Given the description of an element on the screen output the (x, y) to click on. 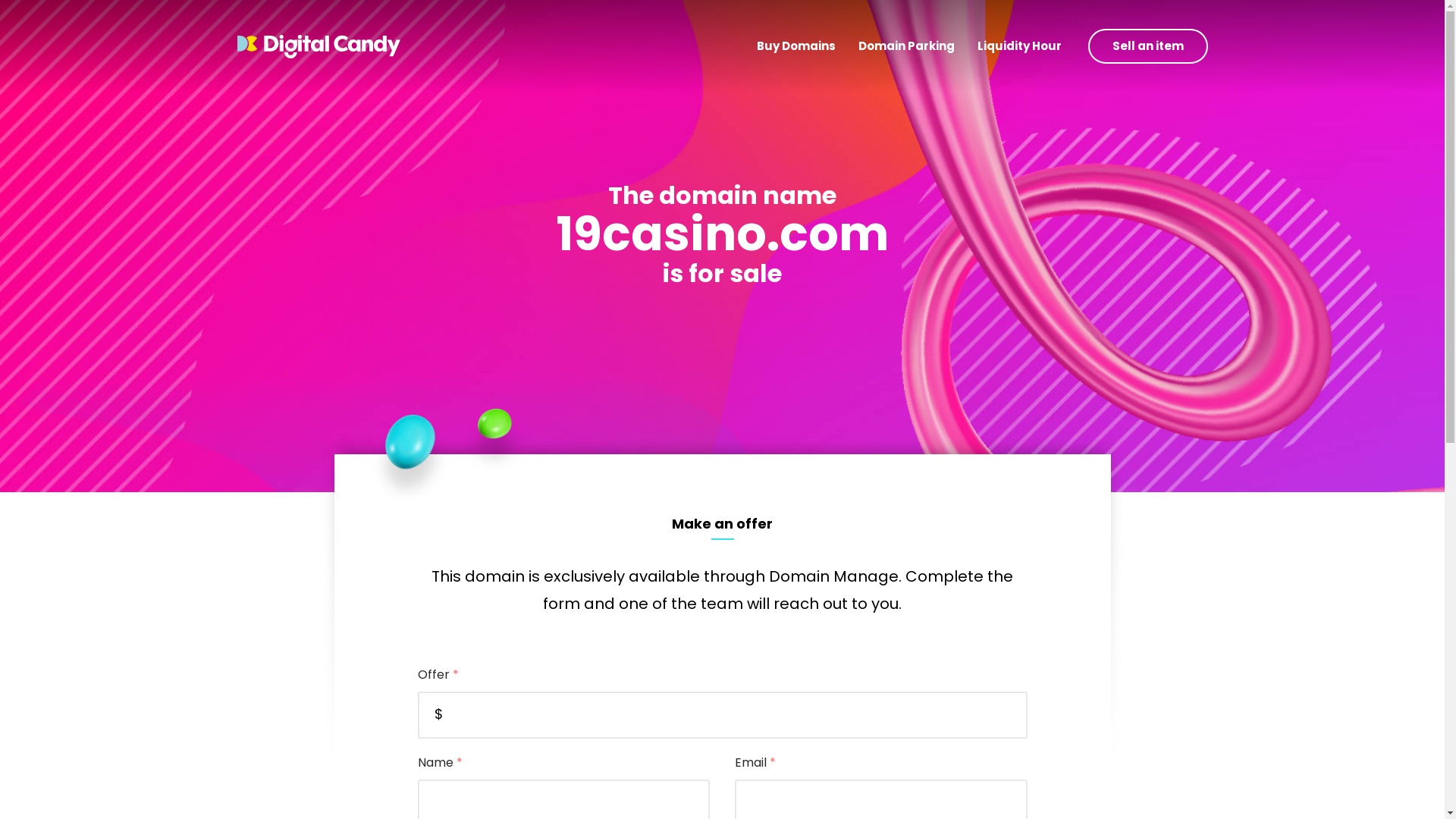
Liquidity Hour Element type: text (1019, 46)
Digital Candy Element type: text (317, 46)
Sell an item Element type: text (1147, 45)
Buy Domains Element type: text (795, 46)
Domain Parking Element type: text (905, 46)
